Given the description of an element on the screen output the (x, y) to click on. 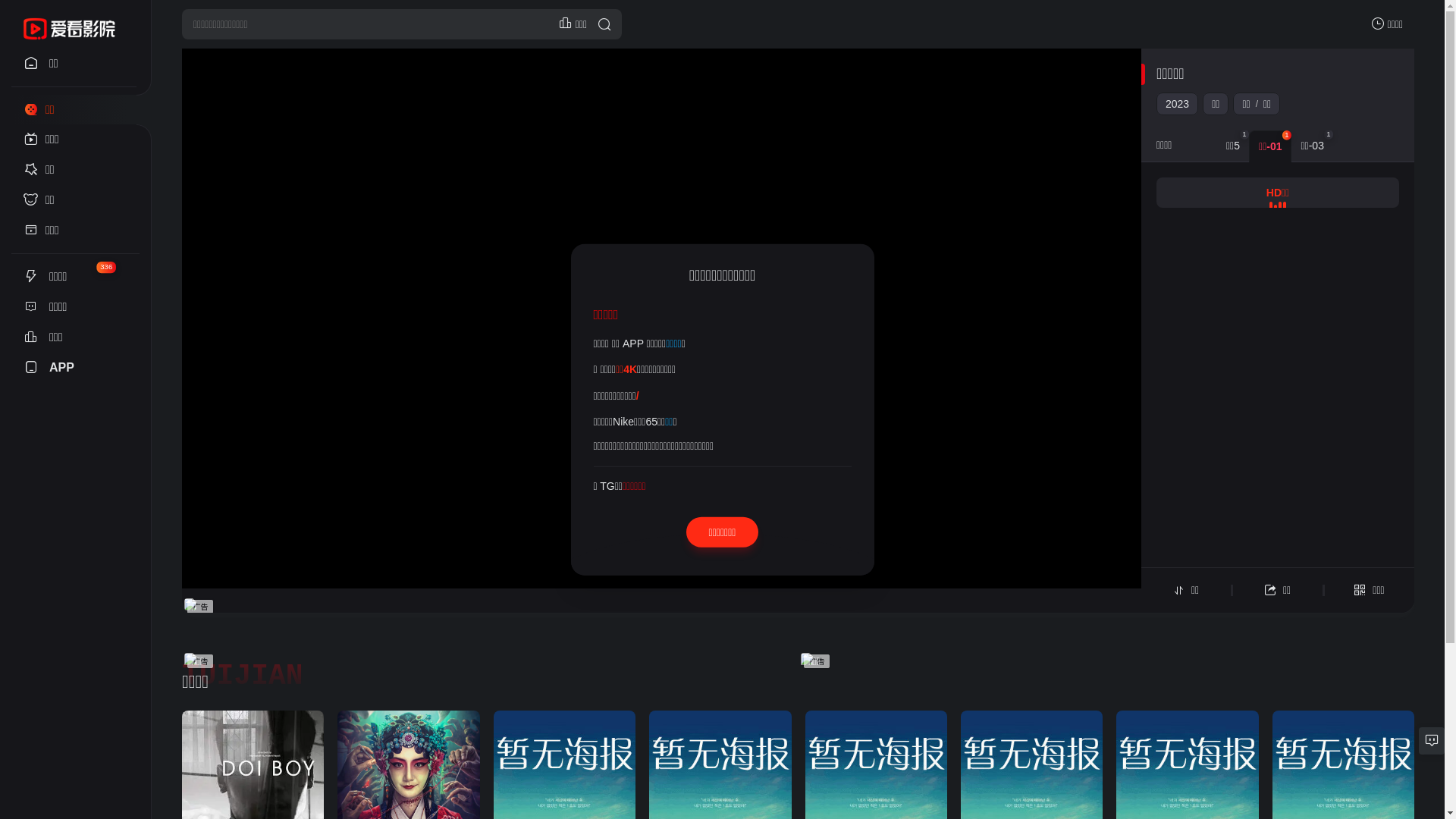
2023 Element type: text (1177, 103)
APP Element type: text (75, 367)
/ Element type: text (637, 395)
